Given the description of an element on the screen output the (x, y) to click on. 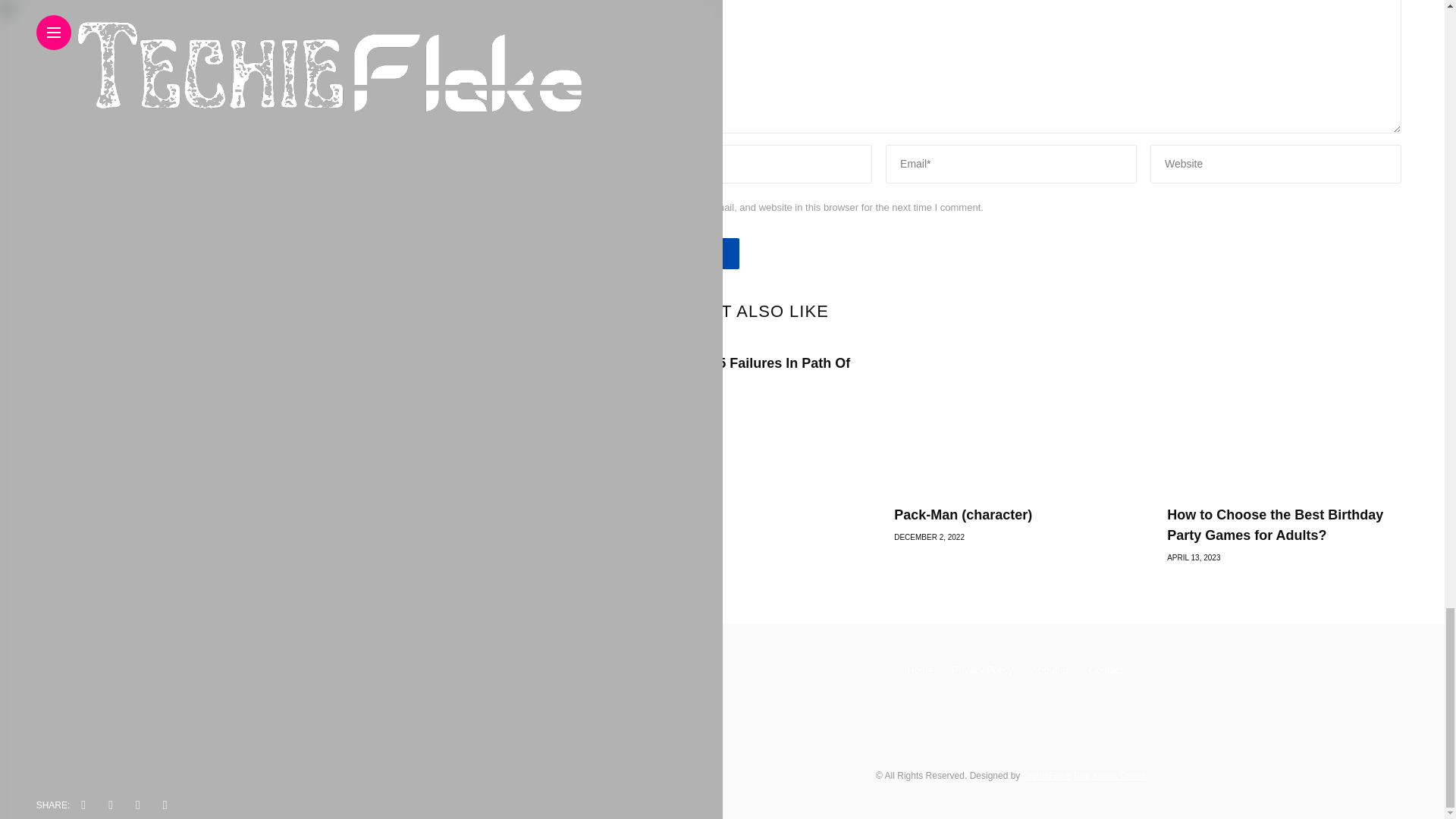
Post Comment (680, 253)
yes (627, 207)
